Given the description of an element on the screen output the (x, y) to click on. 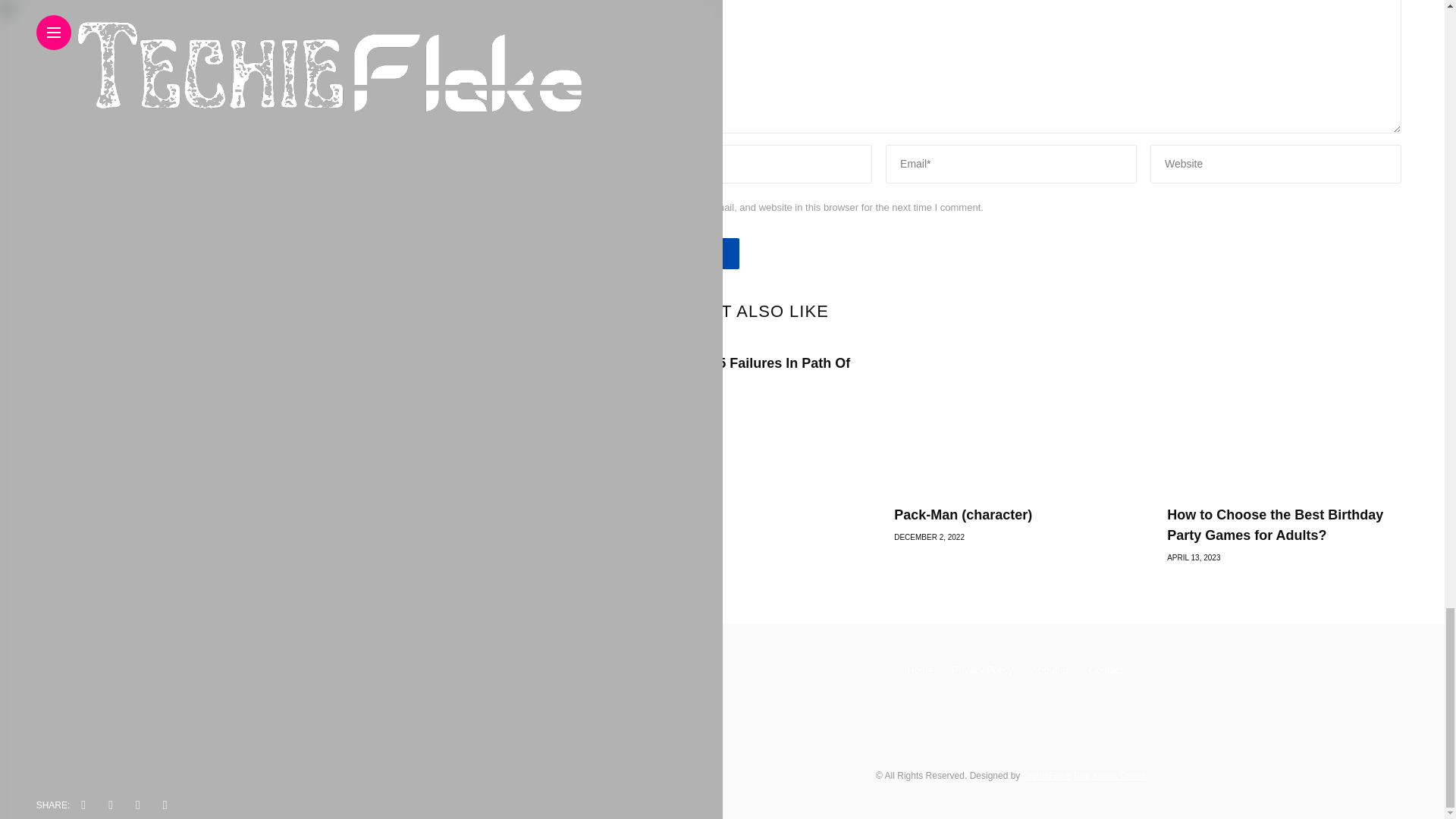
Post Comment (680, 253)
yes (627, 207)
